Given the description of an element on the screen output the (x, y) to click on. 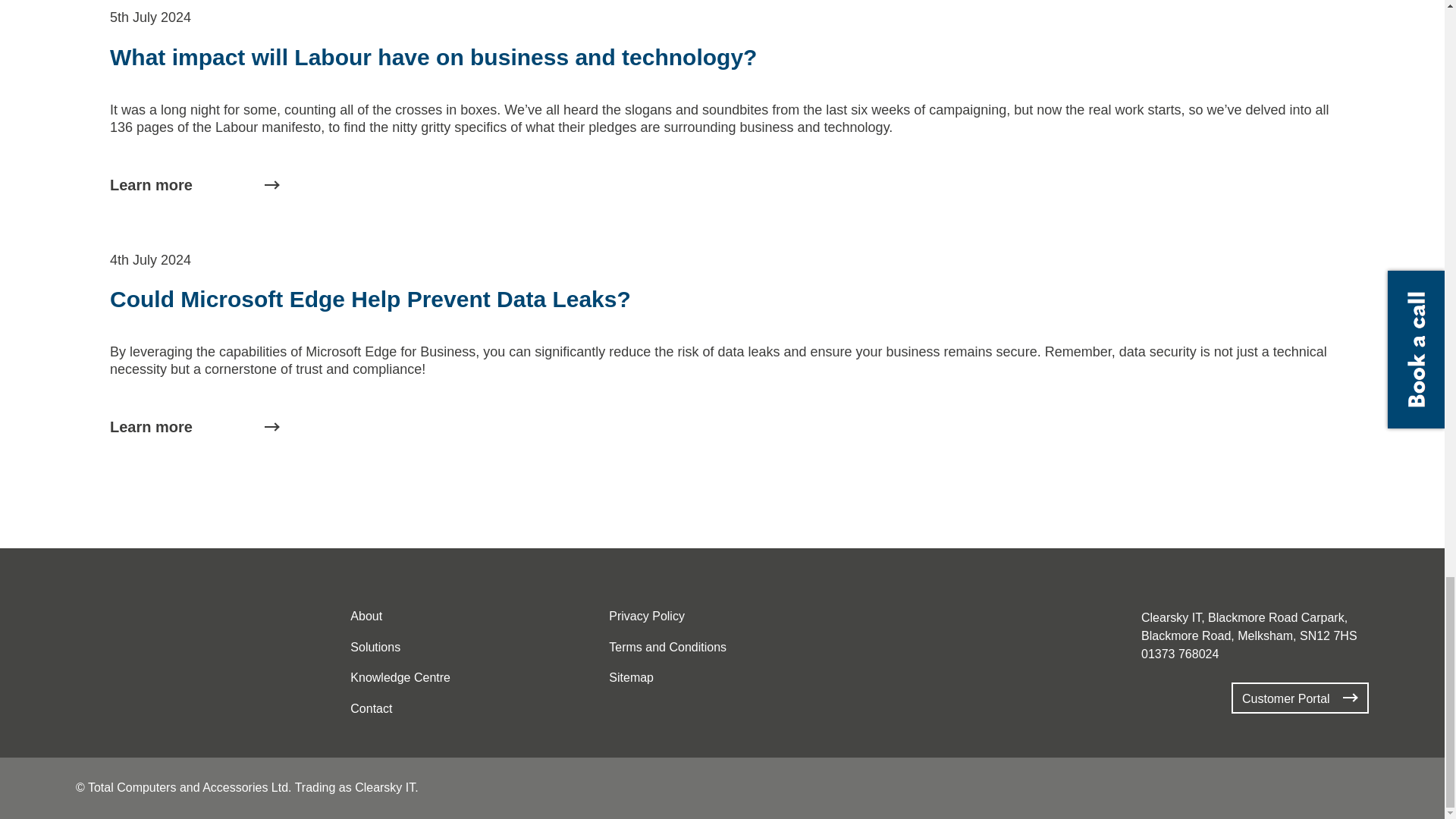
Contact (370, 709)
Privacy Policy (646, 616)
Solutions (375, 647)
What impact will Labour have on business and technology? (433, 57)
Could Microsoft Edge Help Prevent Data Leaks? (370, 299)
Could Microsoft Edge Help Prevent Data Leaks? (370, 299)
01373 768024 (1179, 654)
Terms and Conditions (667, 647)
Knowledge Centre (399, 678)
About (365, 616)
Clearsky IT (116, 638)
Could Microsoft Edge Help Prevent Data Leaks? (199, 426)
What impact will Labour have on business and technology? (433, 57)
Learn more (199, 184)
Customer Portal (1299, 697)
